Given the description of an element on the screen output the (x, y) to click on. 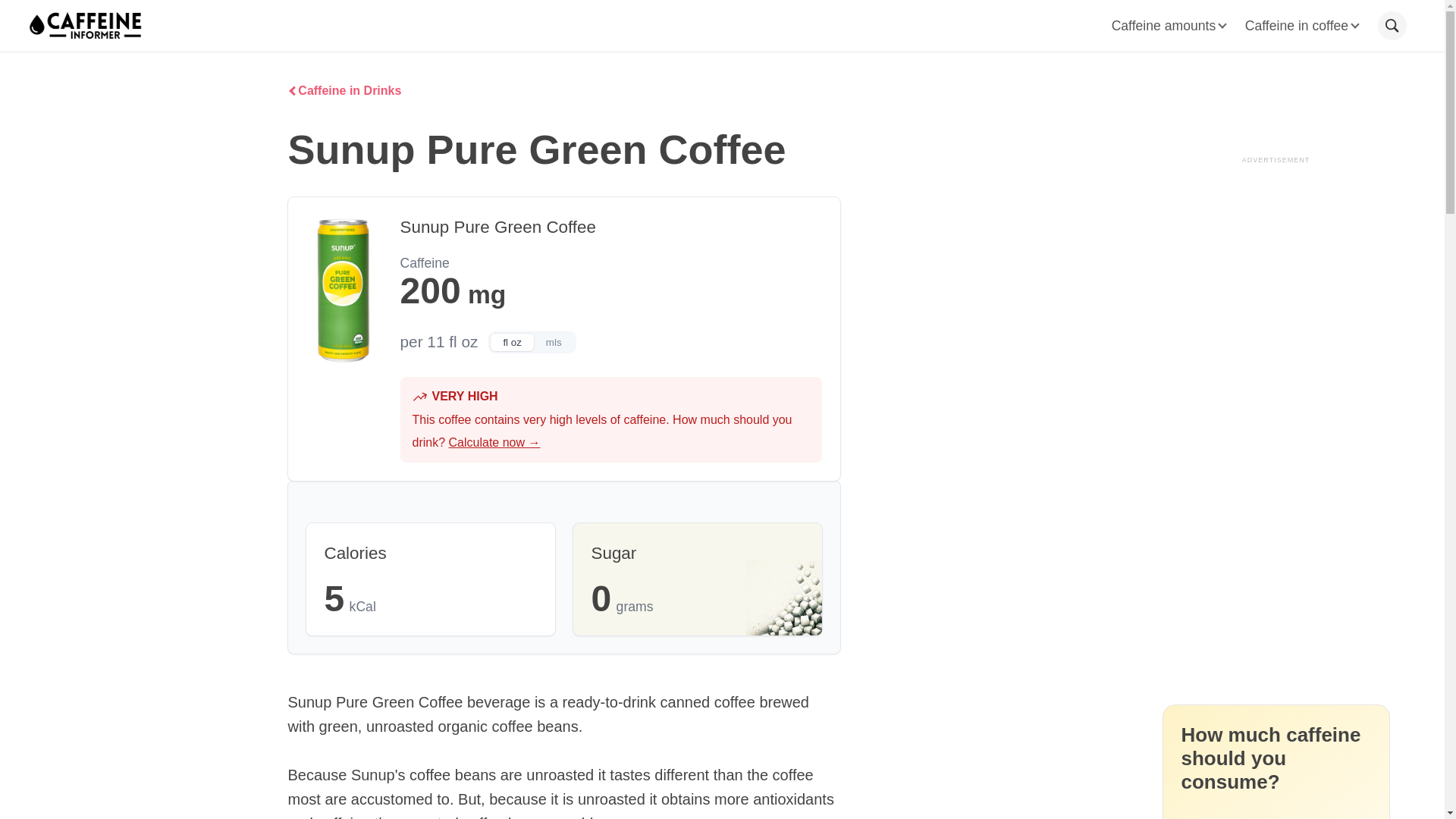
Caffeine in coffee (1301, 25)
Caffeine amounts (1168, 25)
mls (553, 342)
 Caffeine in Drinks (344, 90)
fl oz (511, 342)
